Given the description of an element on the screen output the (x, y) to click on. 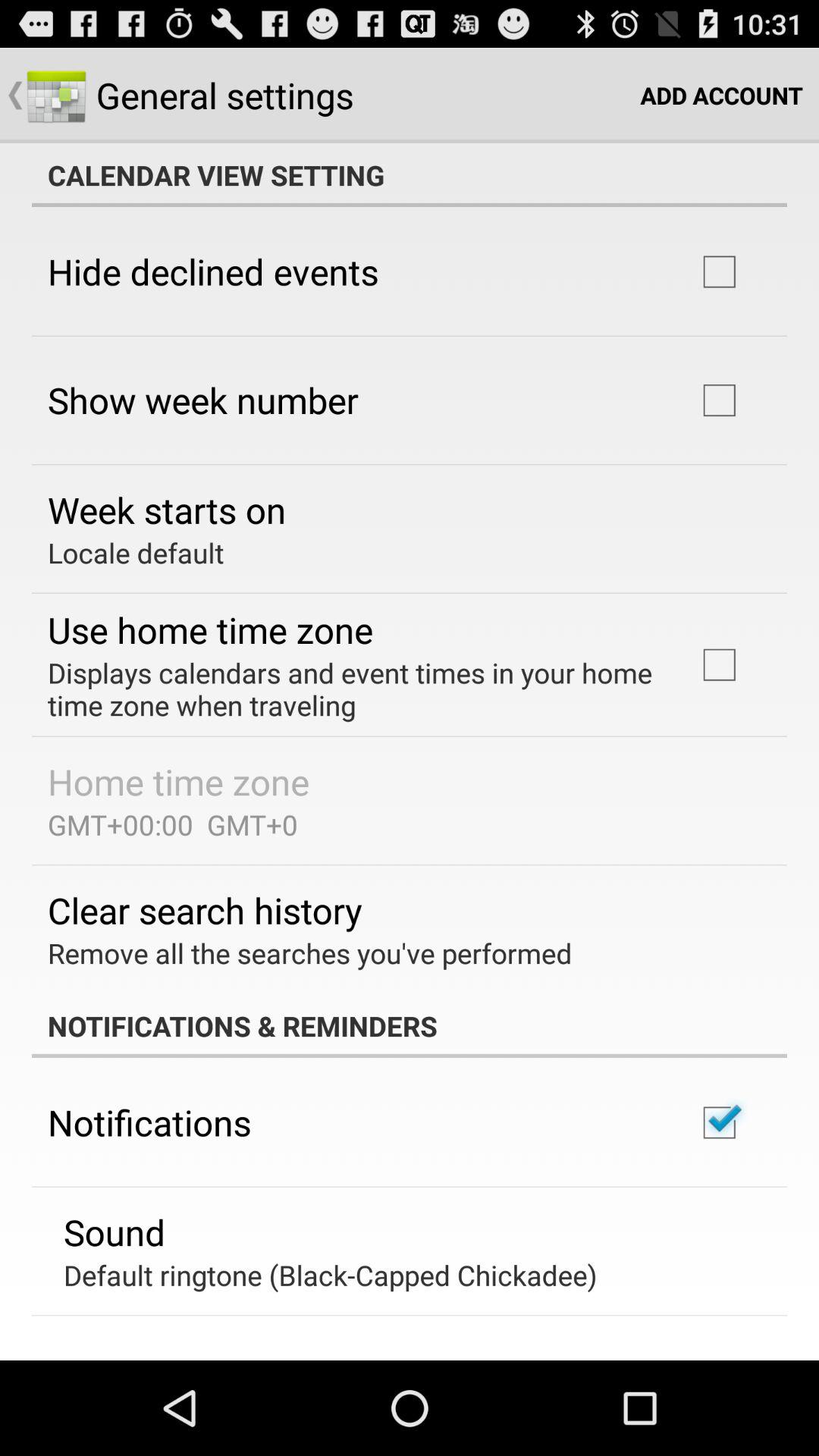
swipe until the add account item (721, 95)
